Given the description of an element on the screen output the (x, y) to click on. 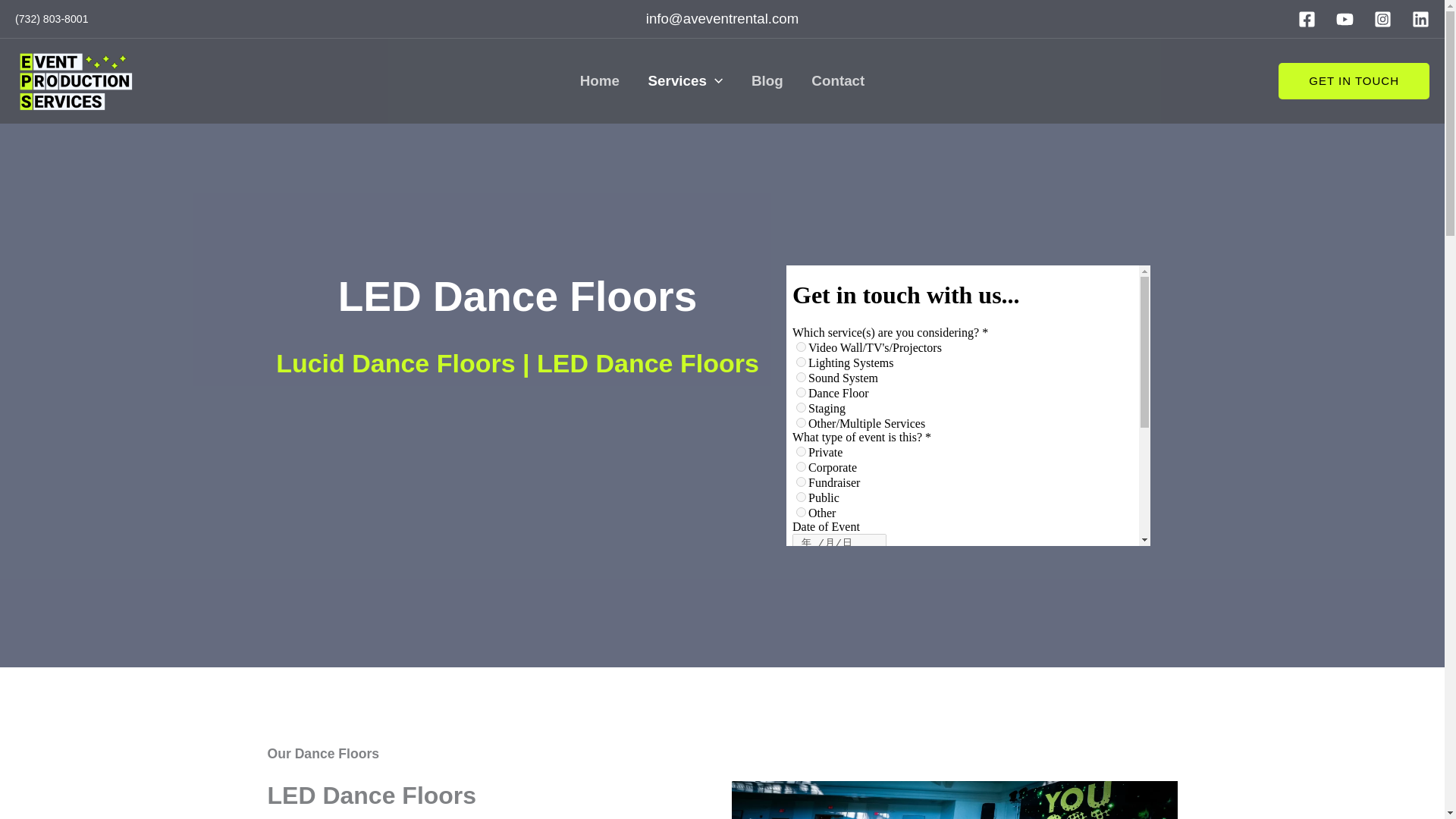
GET IN TOUCH (1353, 81)
Blog (766, 80)
Services (684, 80)
Contact (838, 80)
Home (599, 80)
